Given the description of an element on the screen output the (x, y) to click on. 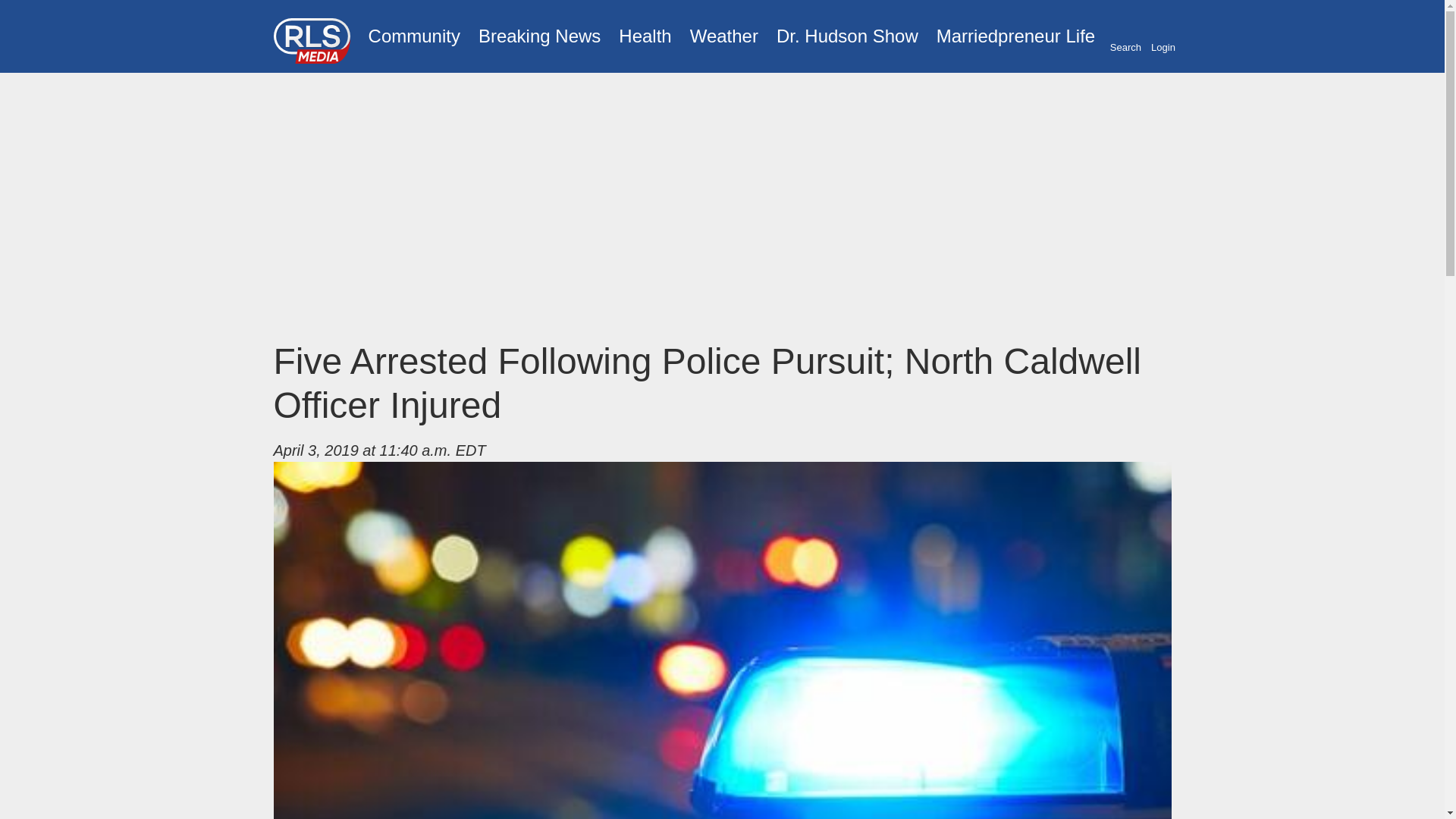
Search (1125, 37)
Health (644, 36)
Community News (413, 36)
Community (413, 36)
Breaking News (539, 36)
Dr. Hudson Show (847, 36)
Local Weather (724, 36)
Weather (724, 36)
Marriedpreneur Life (1015, 36)
Health News (644, 36)
Flying on Broken Dreams (847, 36)
